Given the description of an element on the screen output the (x, y) to click on. 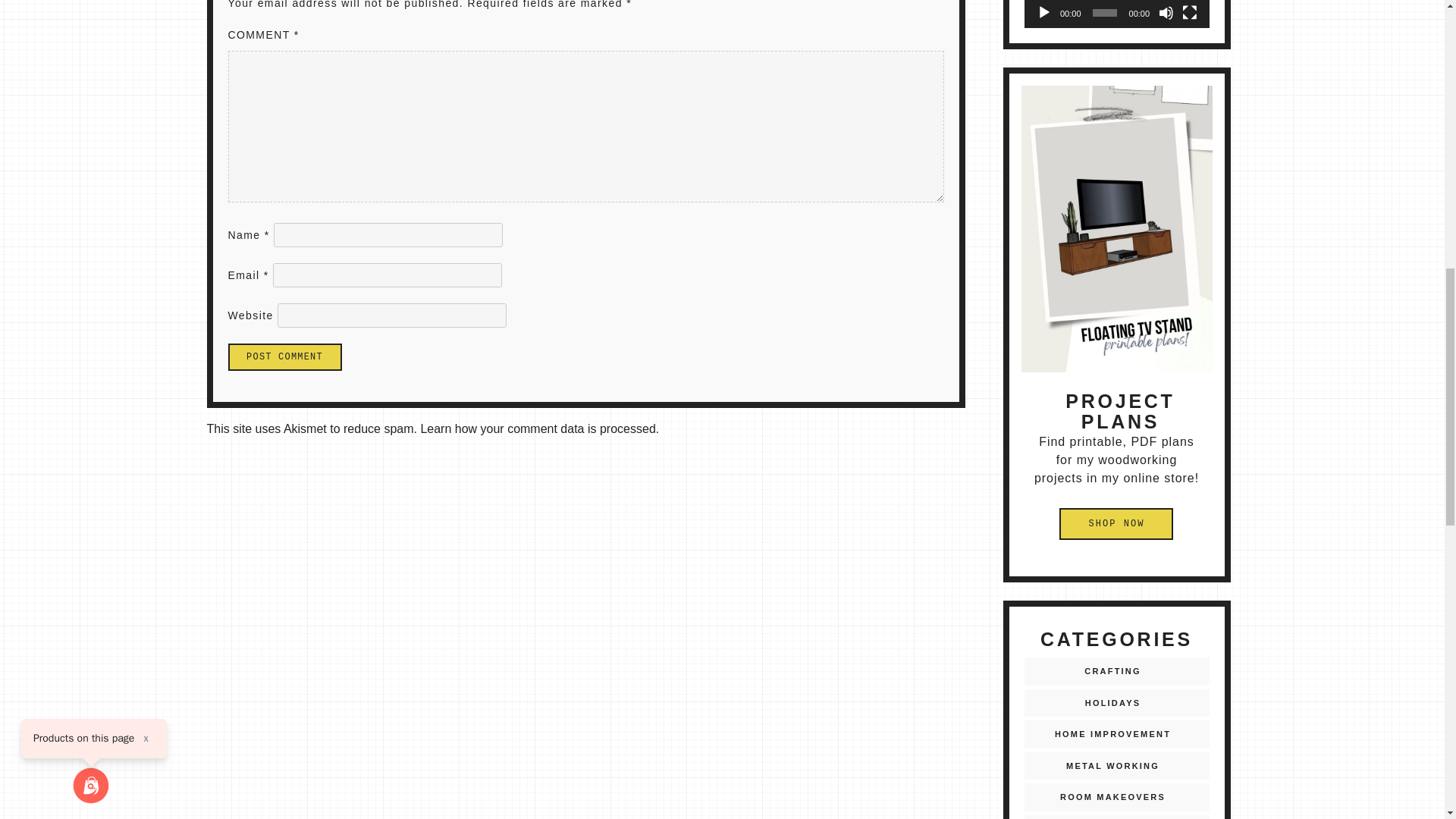
Fullscreen (1189, 12)
Post Comment (283, 357)
Learn how your comment data is processed (537, 428)
Mute (1165, 12)
Post Comment (283, 357)
Play (1043, 12)
